Given the description of an element on the screen output the (x, y) to click on. 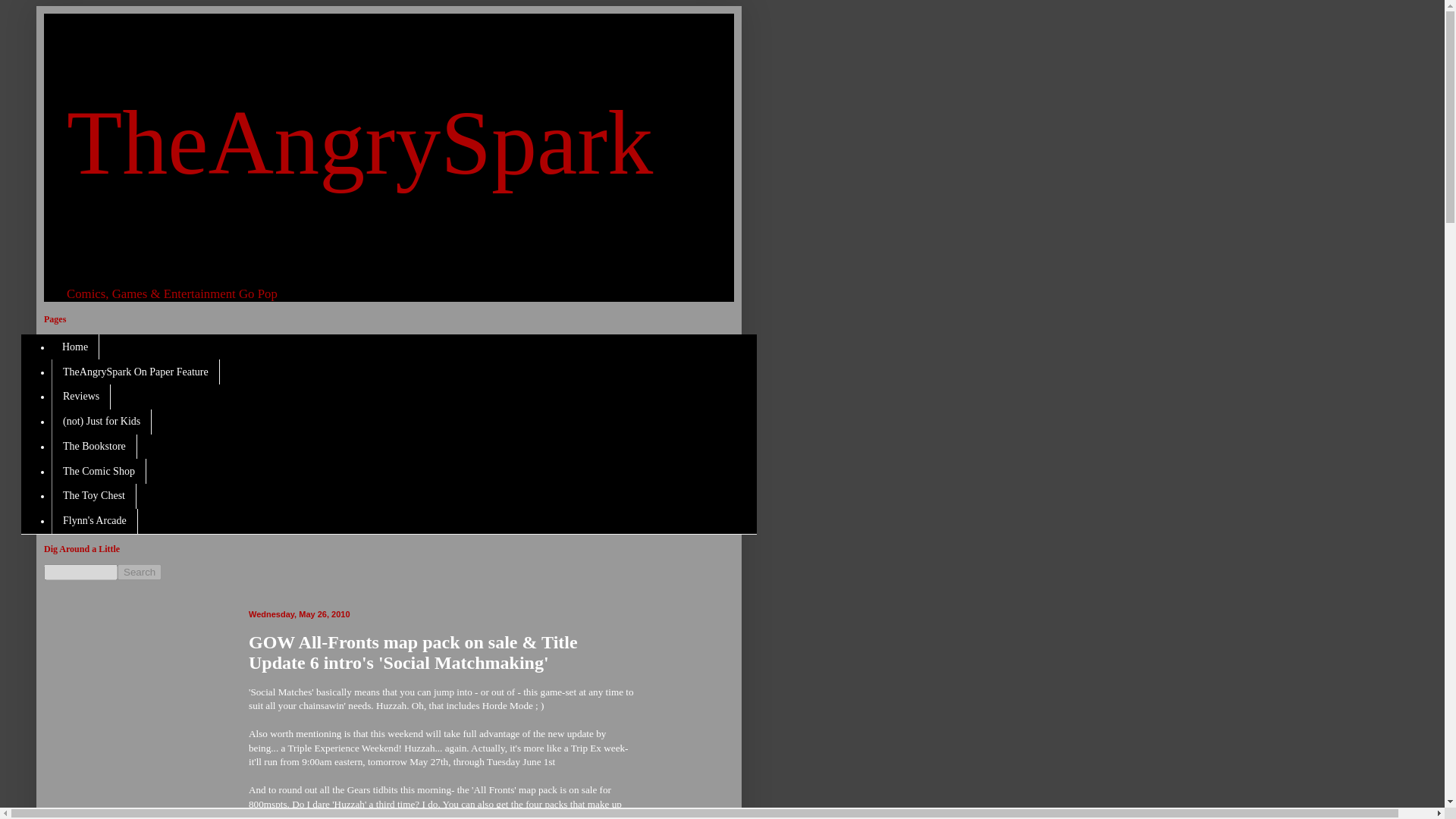
TheAngrySpark (359, 142)
The Bookstore (93, 446)
Search (139, 571)
Flynn's Arcade (94, 520)
The Comic Shop (98, 471)
Reviews (80, 396)
TheAngrySpark On Paper Feature (134, 371)
The Toy Chest (93, 496)
Search (139, 571)
Search (139, 571)
search (139, 571)
search (80, 571)
Home (74, 346)
